Given the description of an element on the screen output the (x, y) to click on. 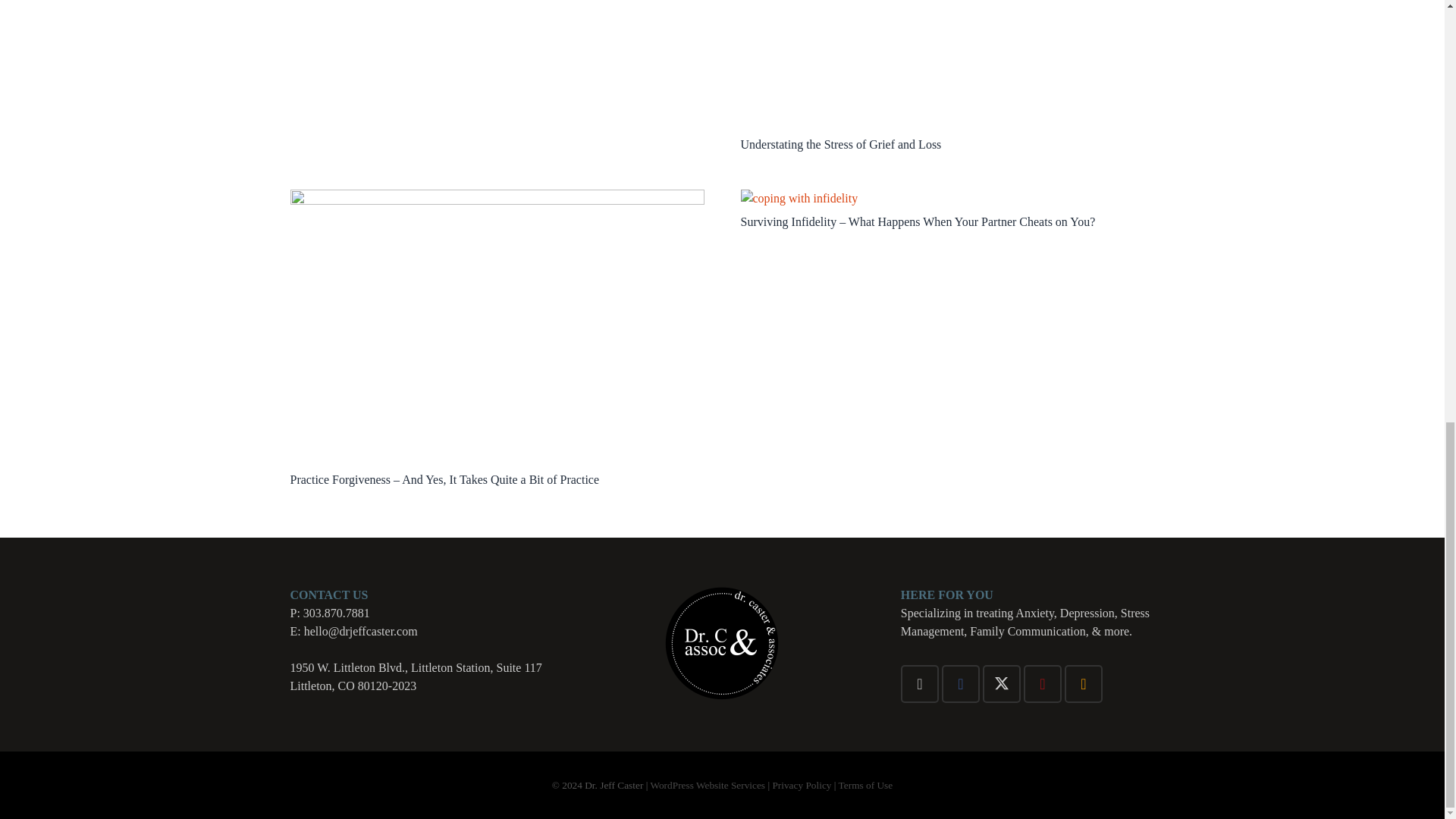
Facebook (960, 683)
YouTube (1042, 683)
WordPress Website Services (707, 785)
RSS (1083, 683)
Privacy Policy (801, 785)
Email (920, 683)
Twitter (1001, 683)
Terms of Use (865, 785)
Understating the Stress of Grief and Loss (839, 144)
NGNG Enterprises (707, 785)
